Given the description of an element on the screen output the (x, y) to click on. 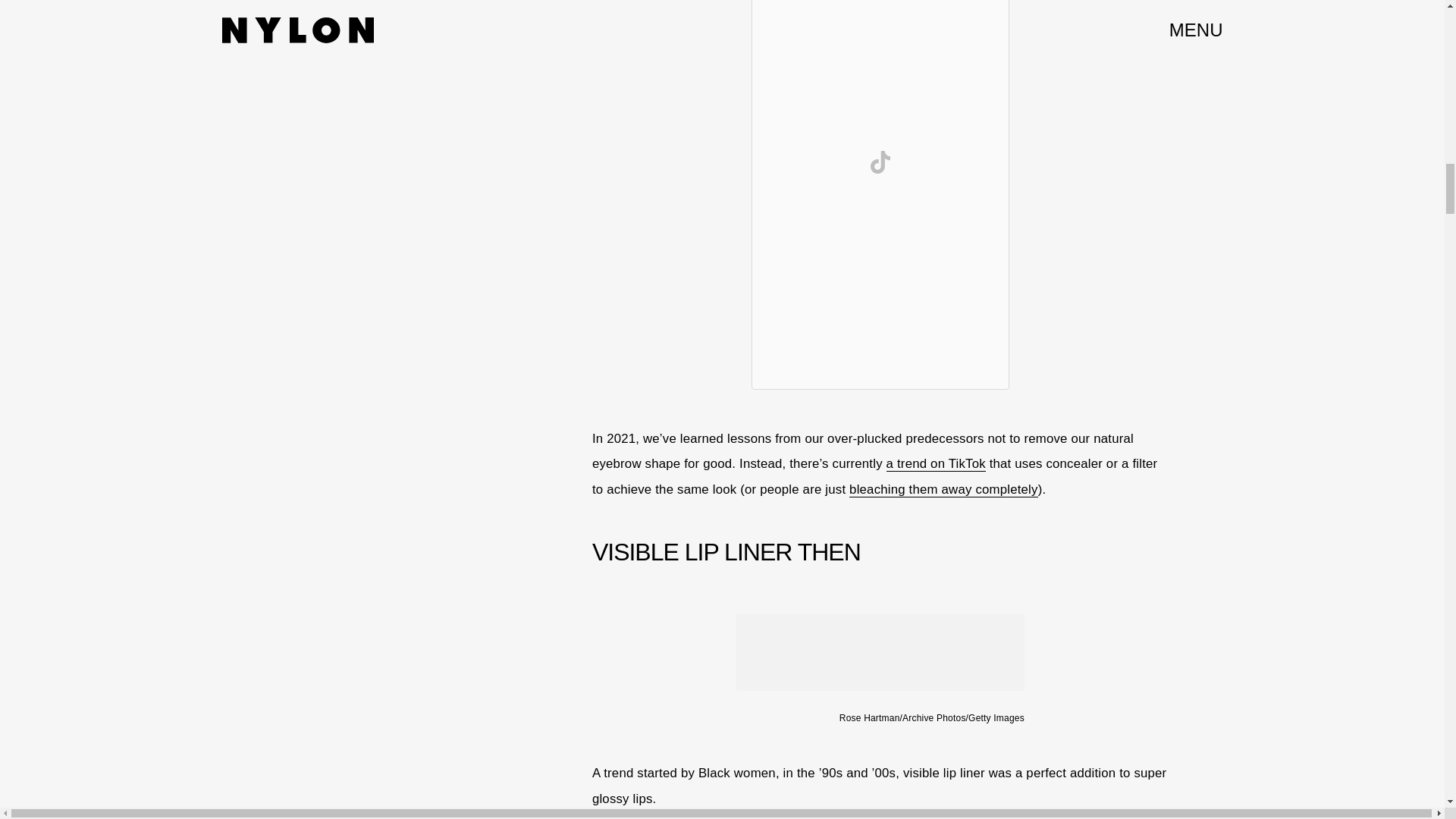
a trend on TikTok (935, 463)
bleaching them away completely (943, 489)
View on TikTok (879, 162)
